Given the description of an element on the screen output the (x, y) to click on. 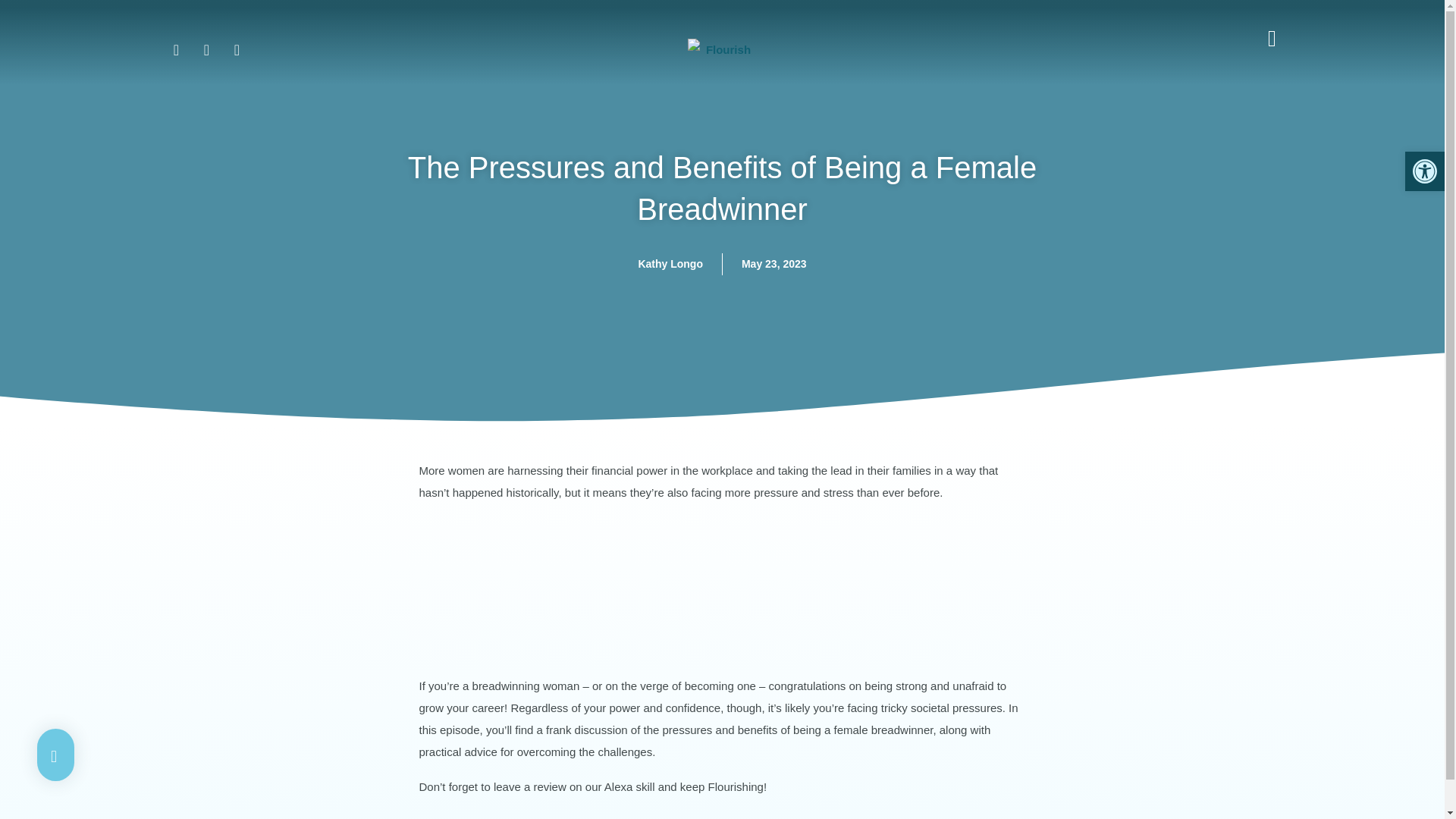
Kathy Longo (670, 264)
May 23, 2023 (773, 264)
Accessibility Tools (1424, 170)
